Given the description of an element on the screen output the (x, y) to click on. 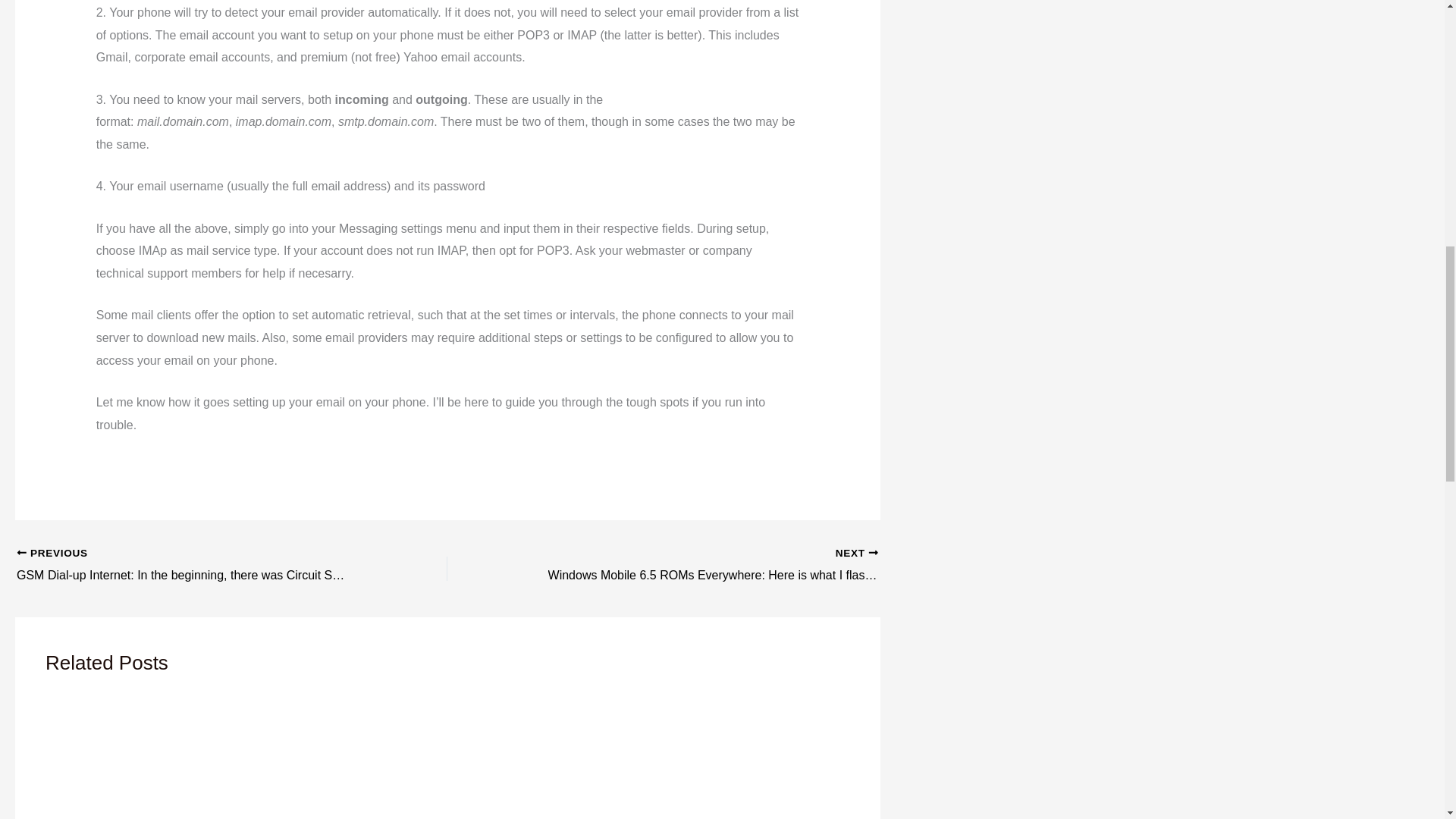
Best Mid range Smartphones That Provide Flagship Performance (241, 756)
